Given the description of an element on the screen output the (x, y) to click on. 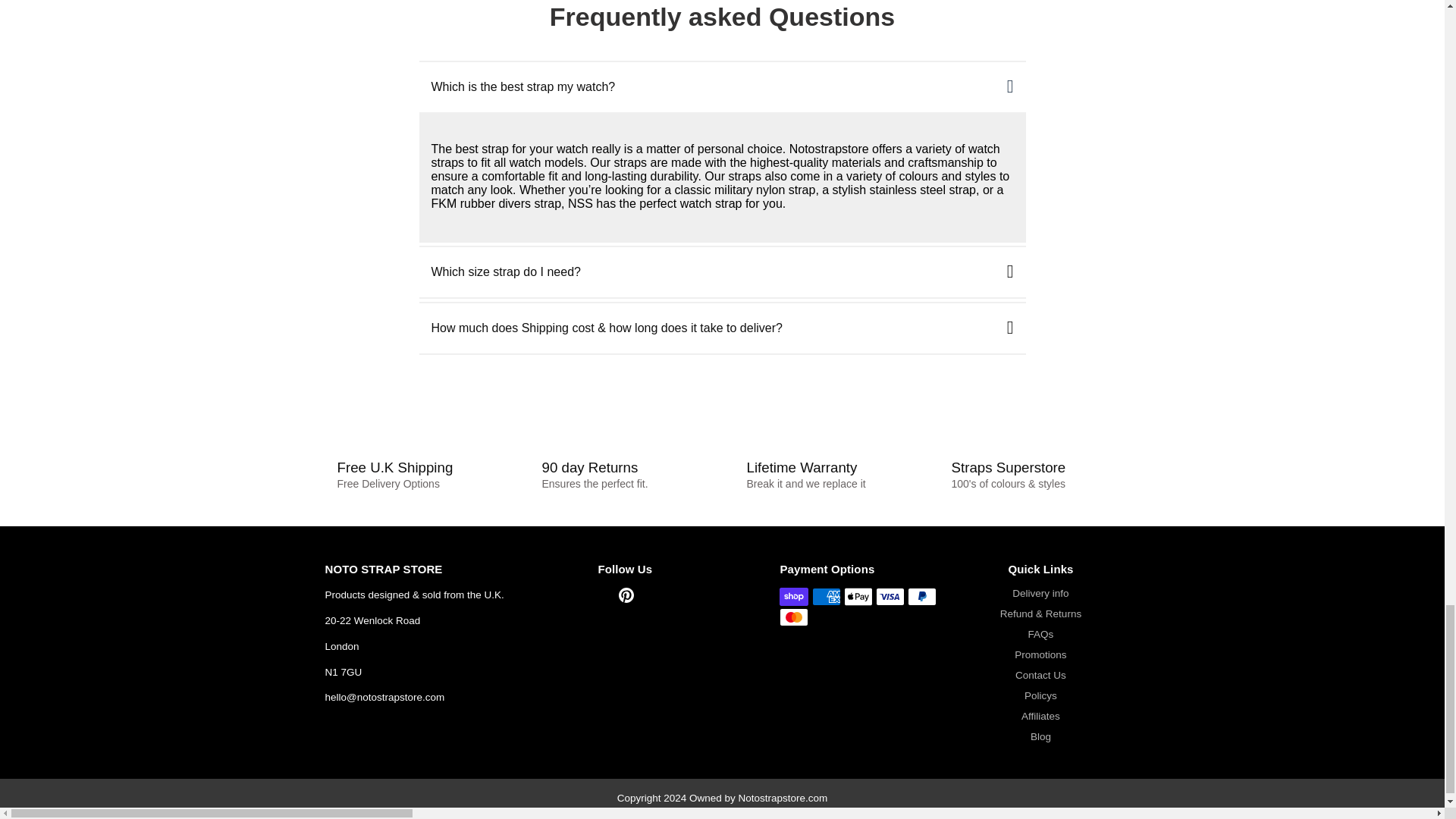
Shop Pay (793, 597)
Apple Pay (858, 597)
PayPal (921, 597)
Mastercard (793, 617)
Visa (890, 597)
American Express (826, 597)
